Given the description of an element on the screen output the (x, y) to click on. 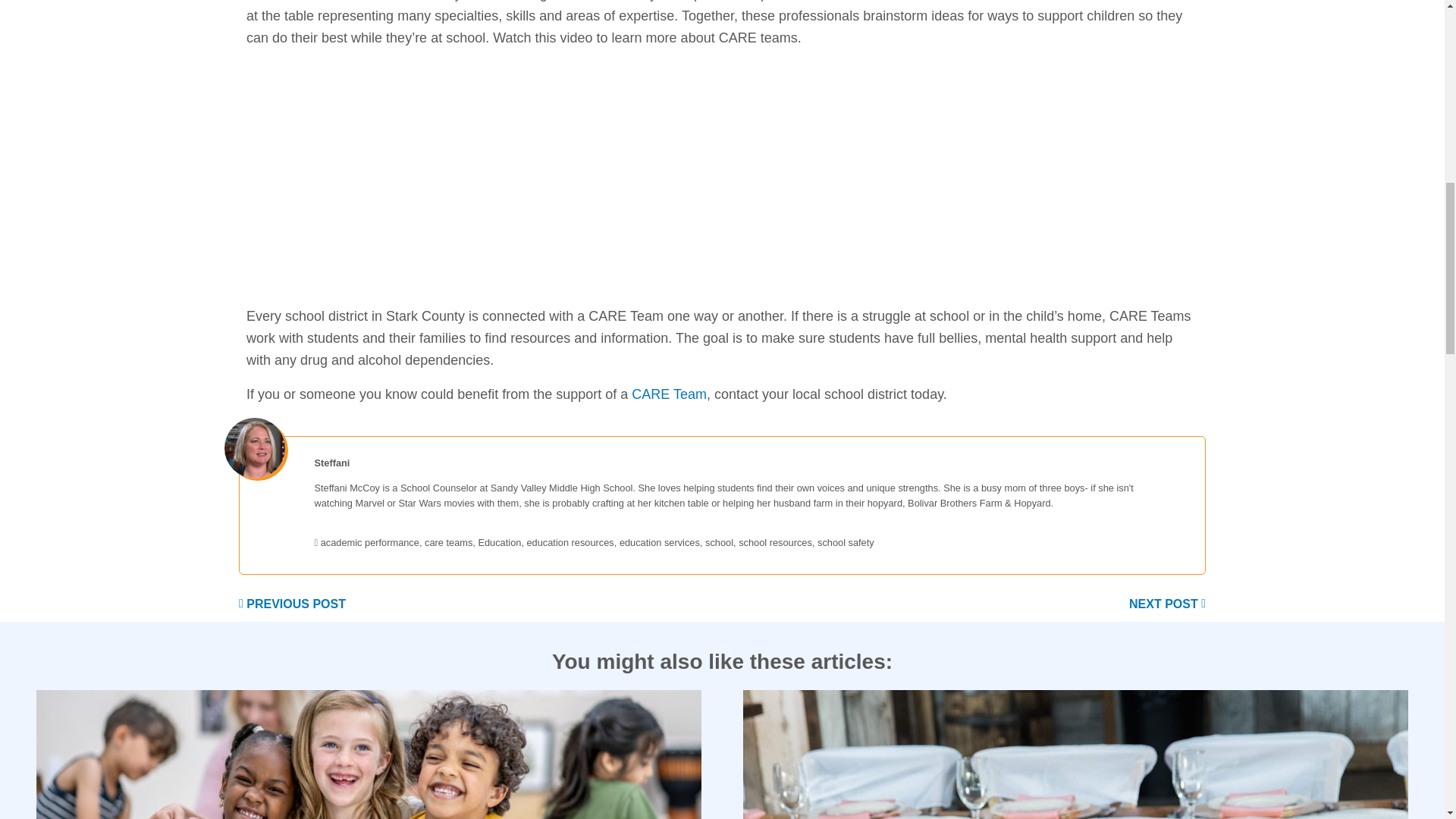
CARE Team (668, 394)
